Given the description of an element on the screen output the (x, y) to click on. 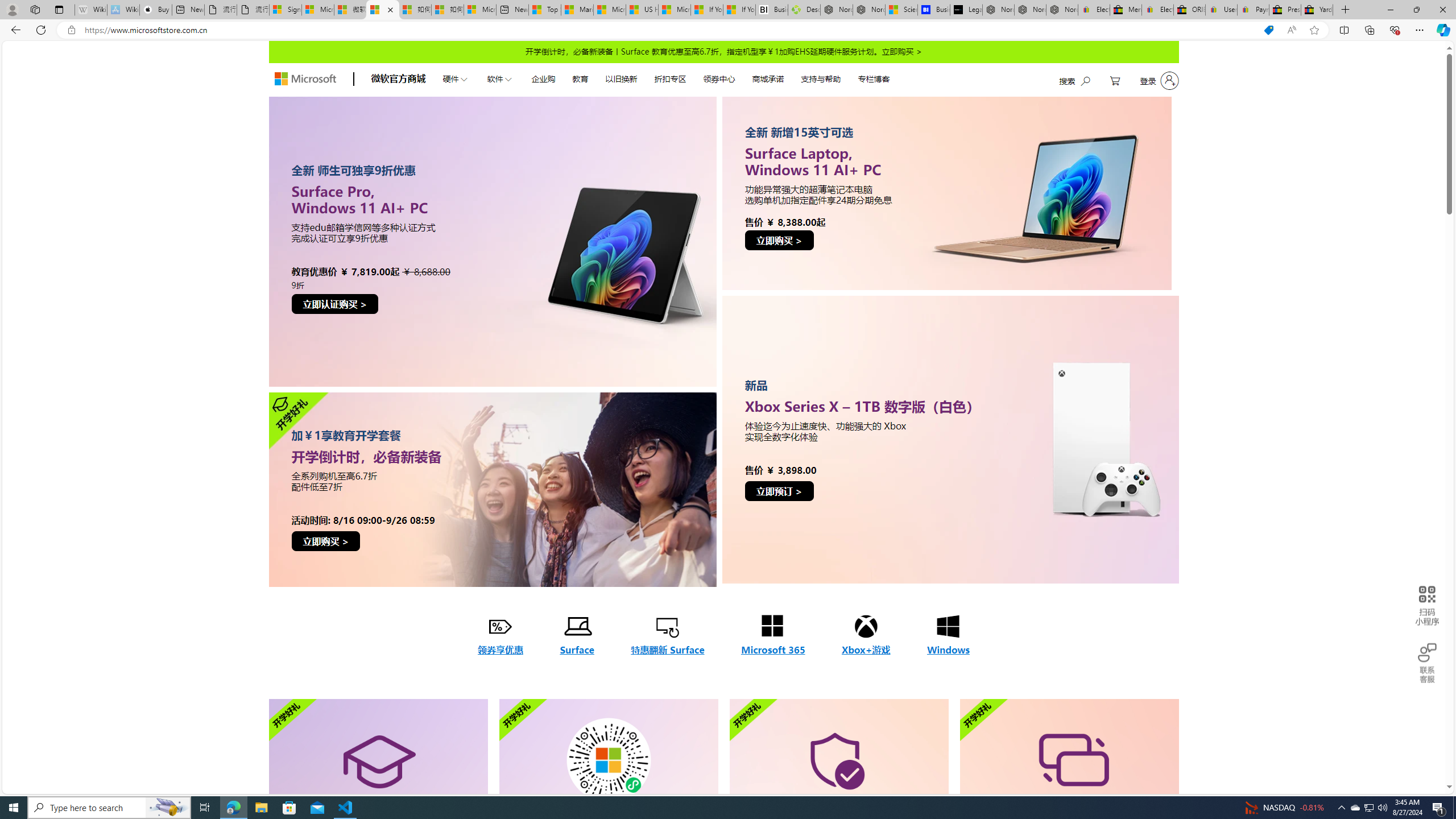
store logo (304, 78)
Descarga Driver Updater (804, 9)
Surface Laptop (947, 192)
surfacepro (491, 489)
